Given the description of an element on the screen output the (x, y) to click on. 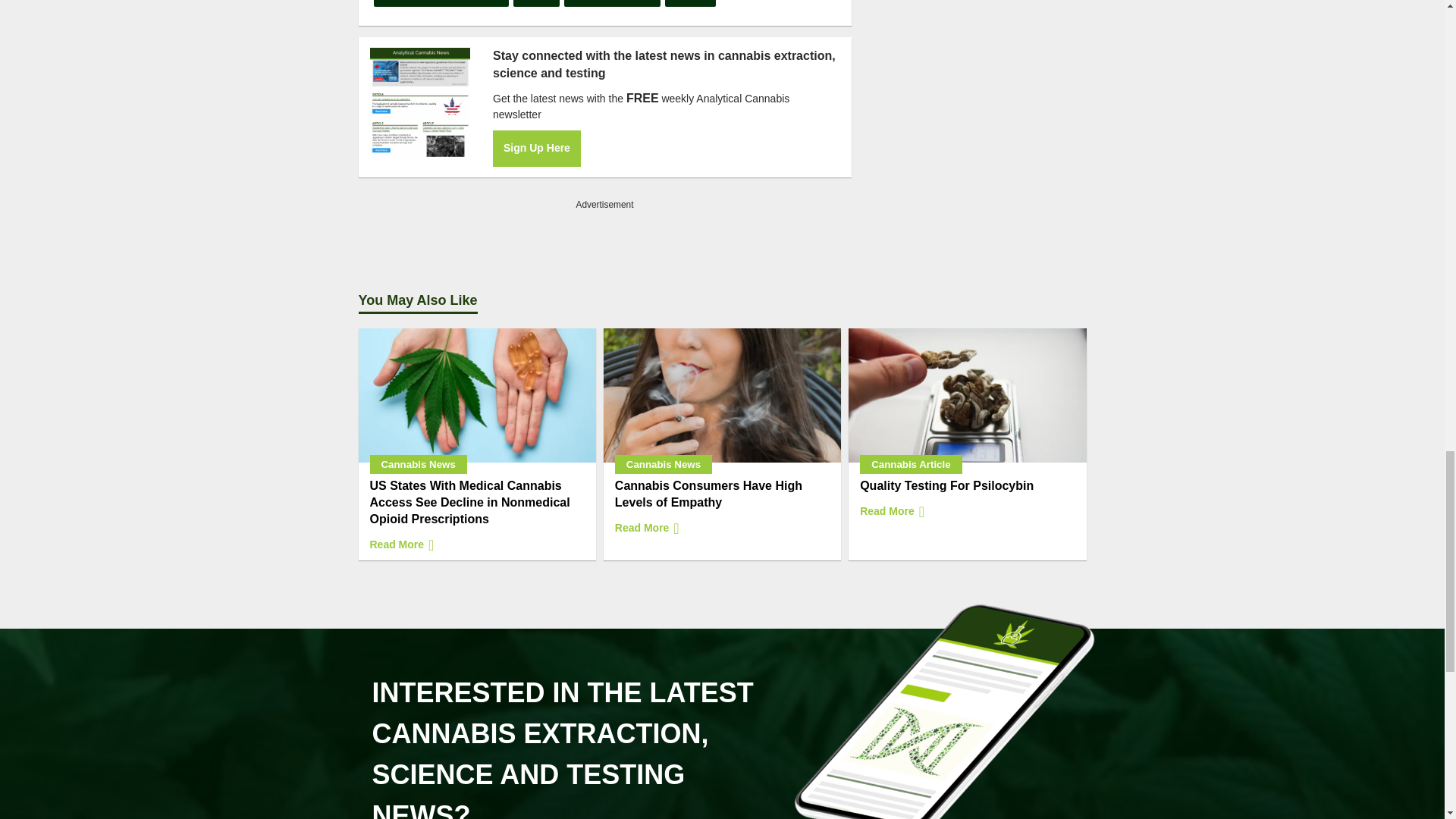
3rd party ad content (605, 234)
